Given the description of an element on the screen output the (x, y) to click on. 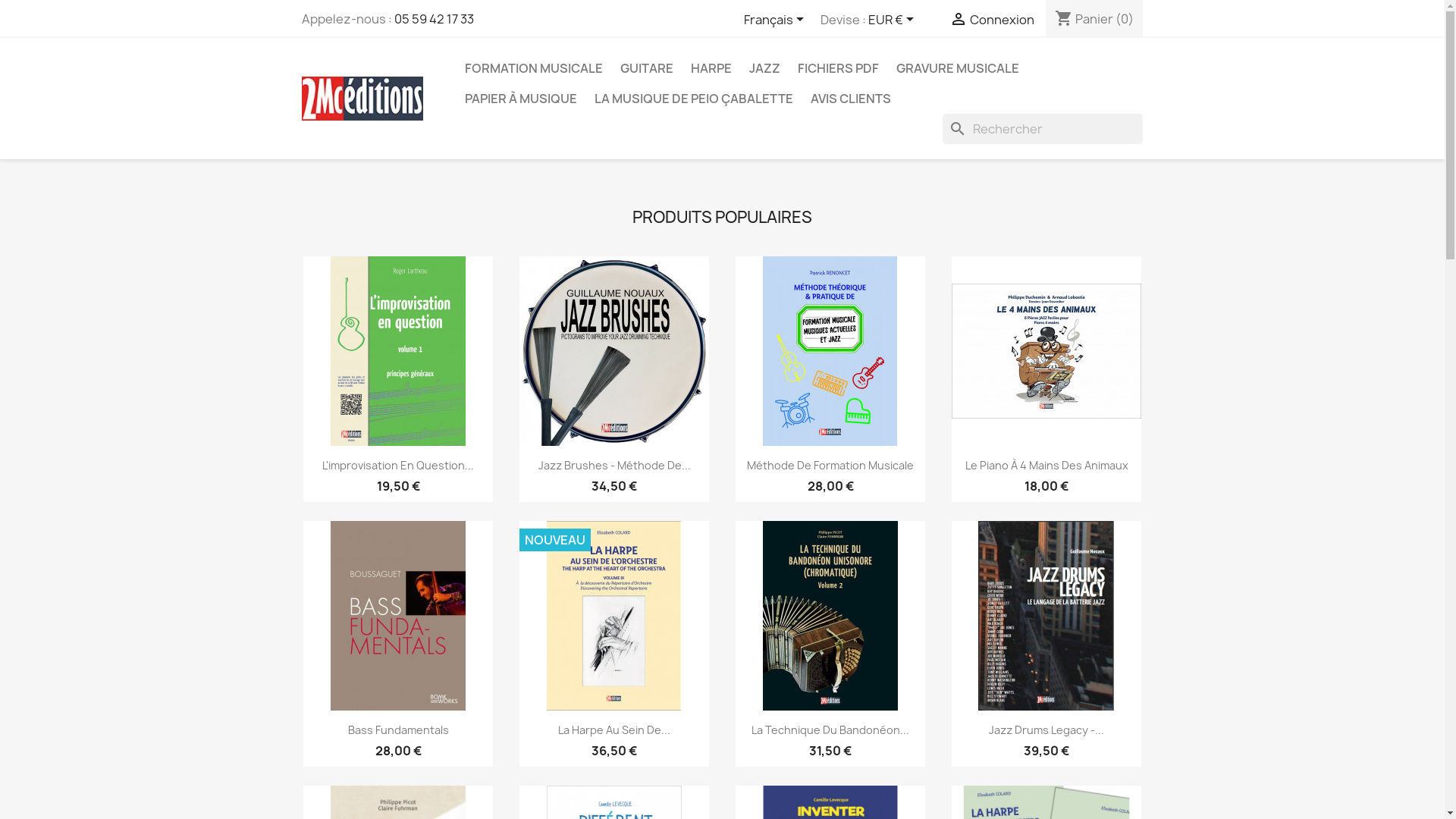
L'Improvisation En Question... Element type: text (397, 465)
FORMATION MUSICALE Element type: text (532, 68)
GRAVURE MUSICALE Element type: text (957, 68)
FICHIERS PDF Element type: text (838, 68)
JAZZ Element type: text (764, 68)
GUITARE Element type: text (646, 68)
Bass Fundamentals Element type: text (397, 729)
AVIS CLIENTS Element type: text (849, 98)
05 59 42 17 33 Element type: text (433, 18)
Jazz Drums Legacy -... Element type: text (1046, 729)
La Harpe Au Sein De... Element type: text (614, 729)
HARPE Element type: text (710, 68)
